Given the description of an element on the screen output the (x, y) to click on. 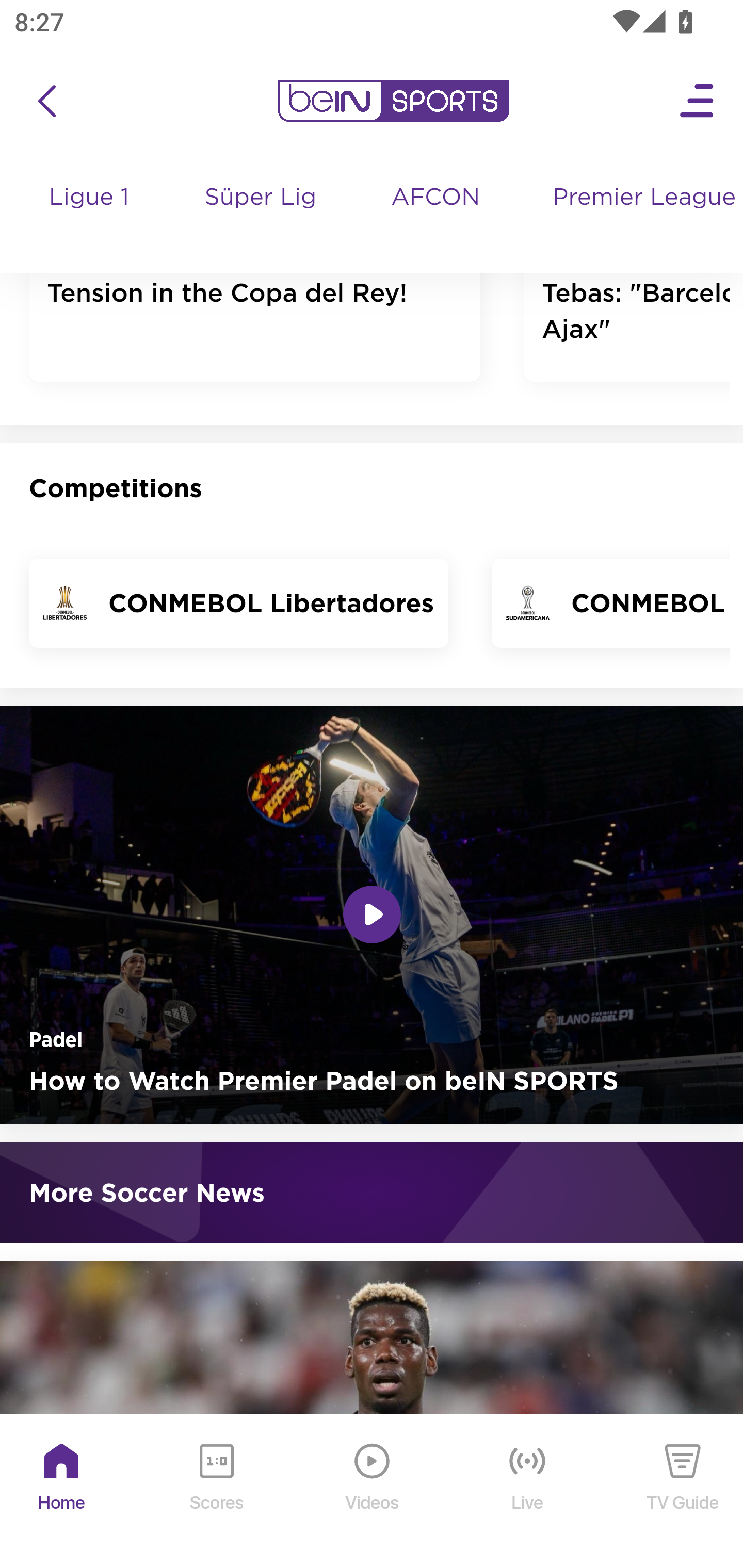
en-us?platform=mobile_android bein logo (392, 101)
icon back (46, 101)
Open Menu Icon (697, 101)
Ligue 1 (89, 216)
Süper Lig (261, 216)
AFCON (434, 198)
Premier League (639, 198)
Home Home Icon Home (61, 1491)
Scores Scores Icon Scores (216, 1491)
Videos Videos Icon Videos (372, 1491)
TV Guide TV Guide Icon TV Guide (682, 1491)
